Given the description of an element on the screen output the (x, y) to click on. 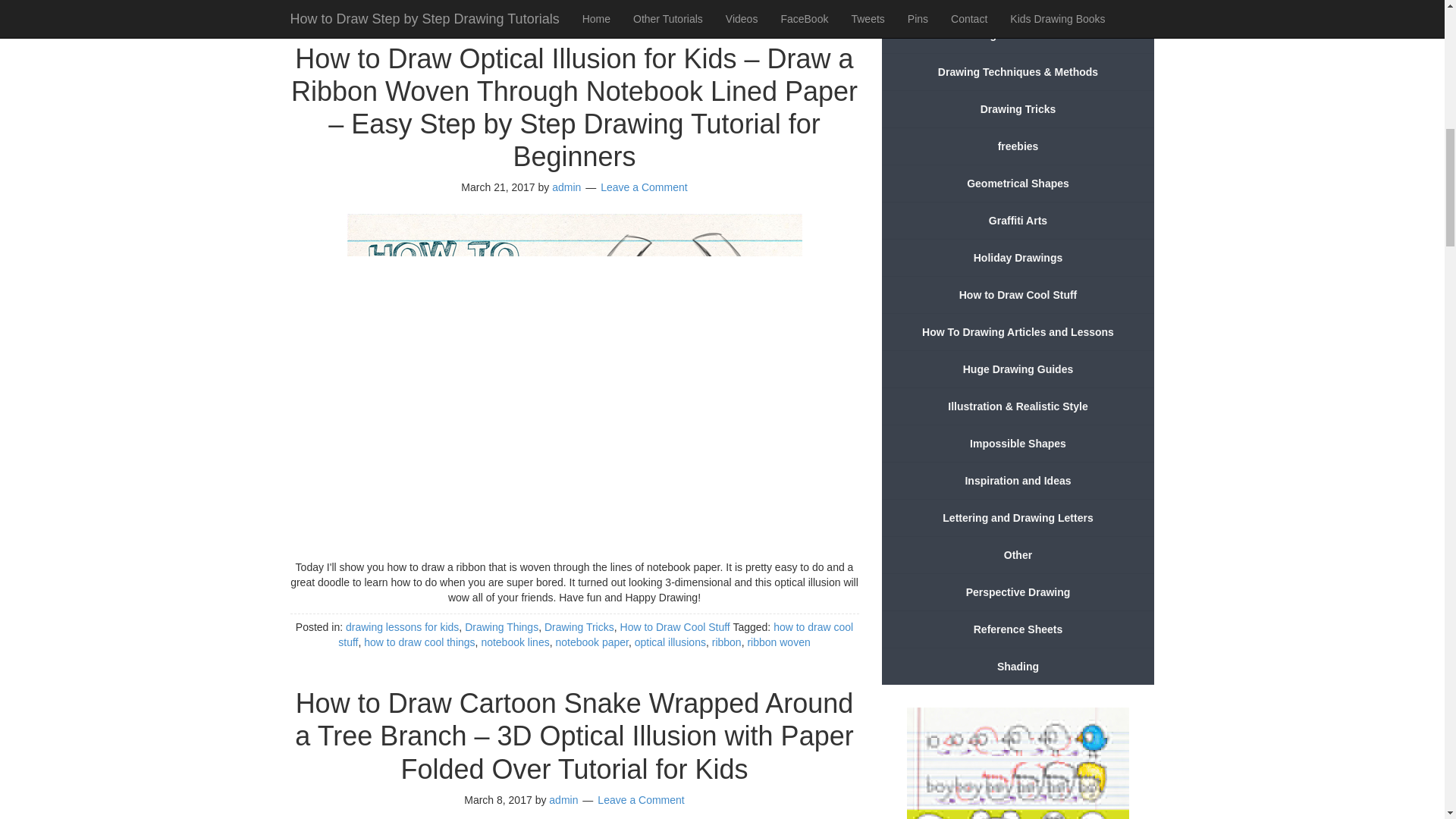
page opening up (646, 2)
hole in paper (421, 2)
Drawing Tricks (579, 626)
How to Draw Cool Stuff (675, 626)
optical illusion (491, 2)
optical illusions (566, 2)
Leave a Comment (643, 186)
notebook lines (514, 642)
Drawing Things (501, 626)
drawing lessons for kids (402, 626)
ribbon woven (777, 642)
Posts by admin (565, 186)
ribbon (726, 642)
how to draw cool things (419, 642)
Tuesday, March 21, 2017, 11:33 am (497, 186)
